Given the description of an element on the screen output the (x, y) to click on. 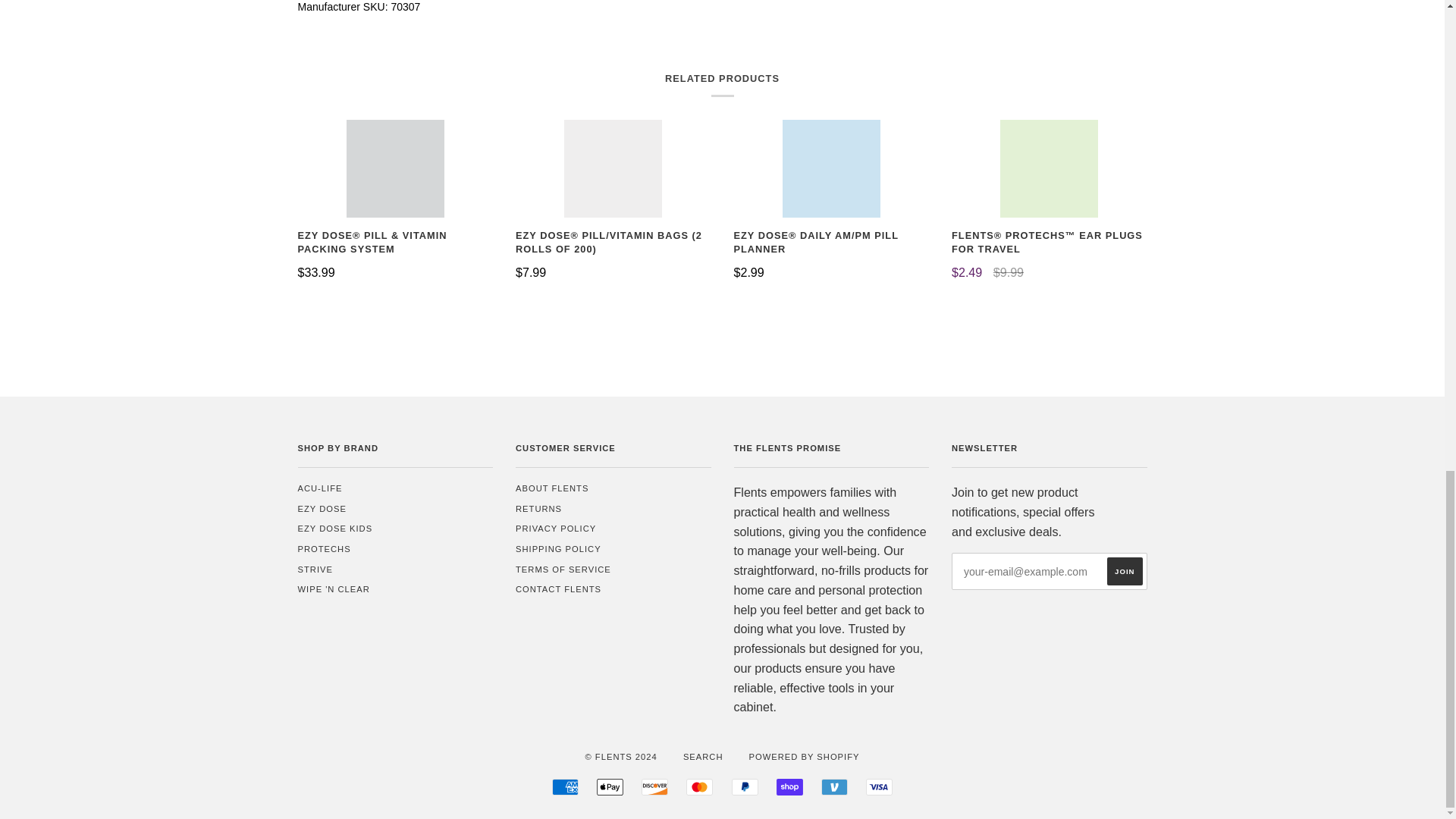
AMERICAN EXPRESS (564, 786)
MASTERCARD (699, 786)
VENMO (834, 786)
VISA (879, 786)
Join (1123, 571)
PAYPAL (745, 786)
APPLE PAY (609, 786)
SHOP PAY (789, 786)
DISCOVER (655, 786)
